Given the description of an element on the screen output the (x, y) to click on. 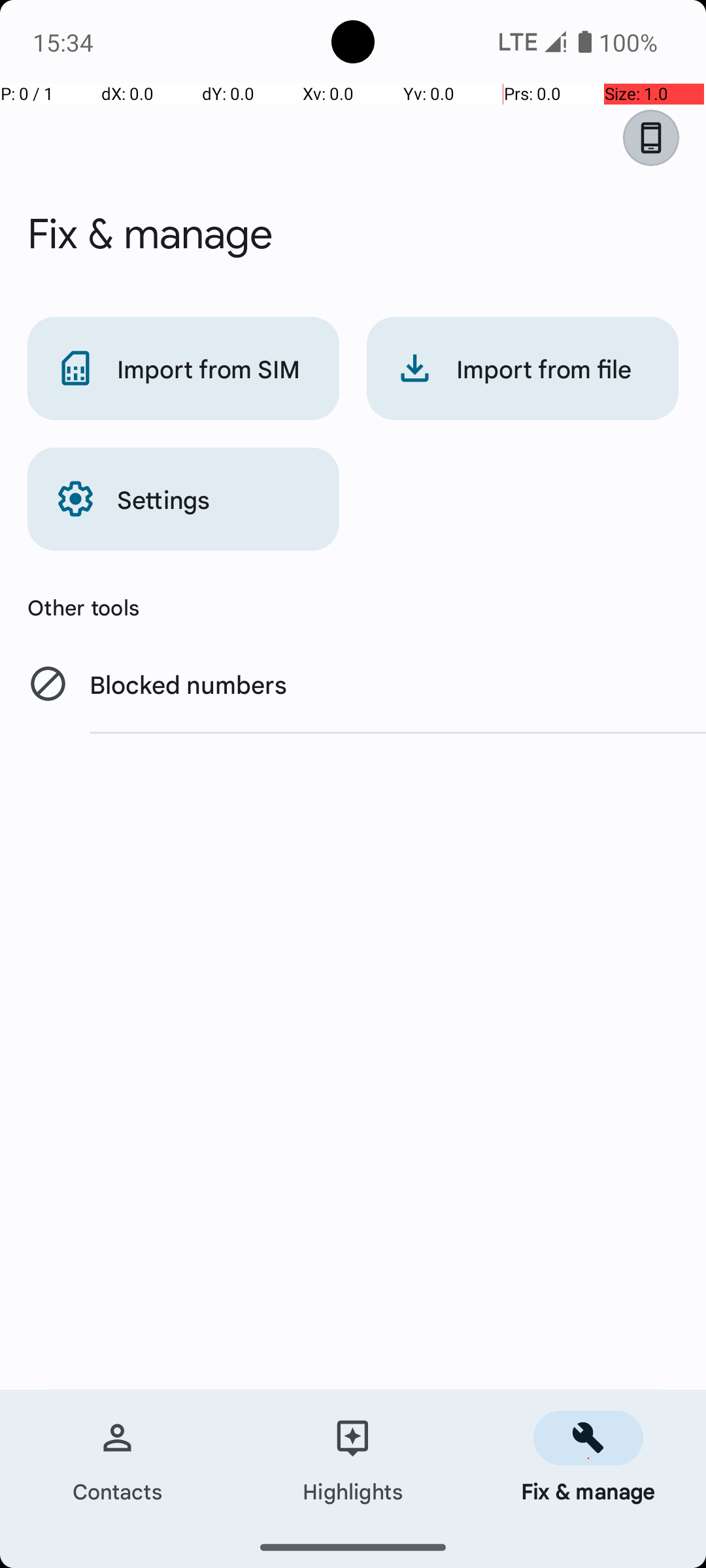
Other tools Element type: android.widget.TextView (353, 606)
Import from SIM Element type: android.widget.TextView (183, 368)
Import from file Element type: android.widget.TextView (522, 368)
